Given the description of an element on the screen output the (x, y) to click on. 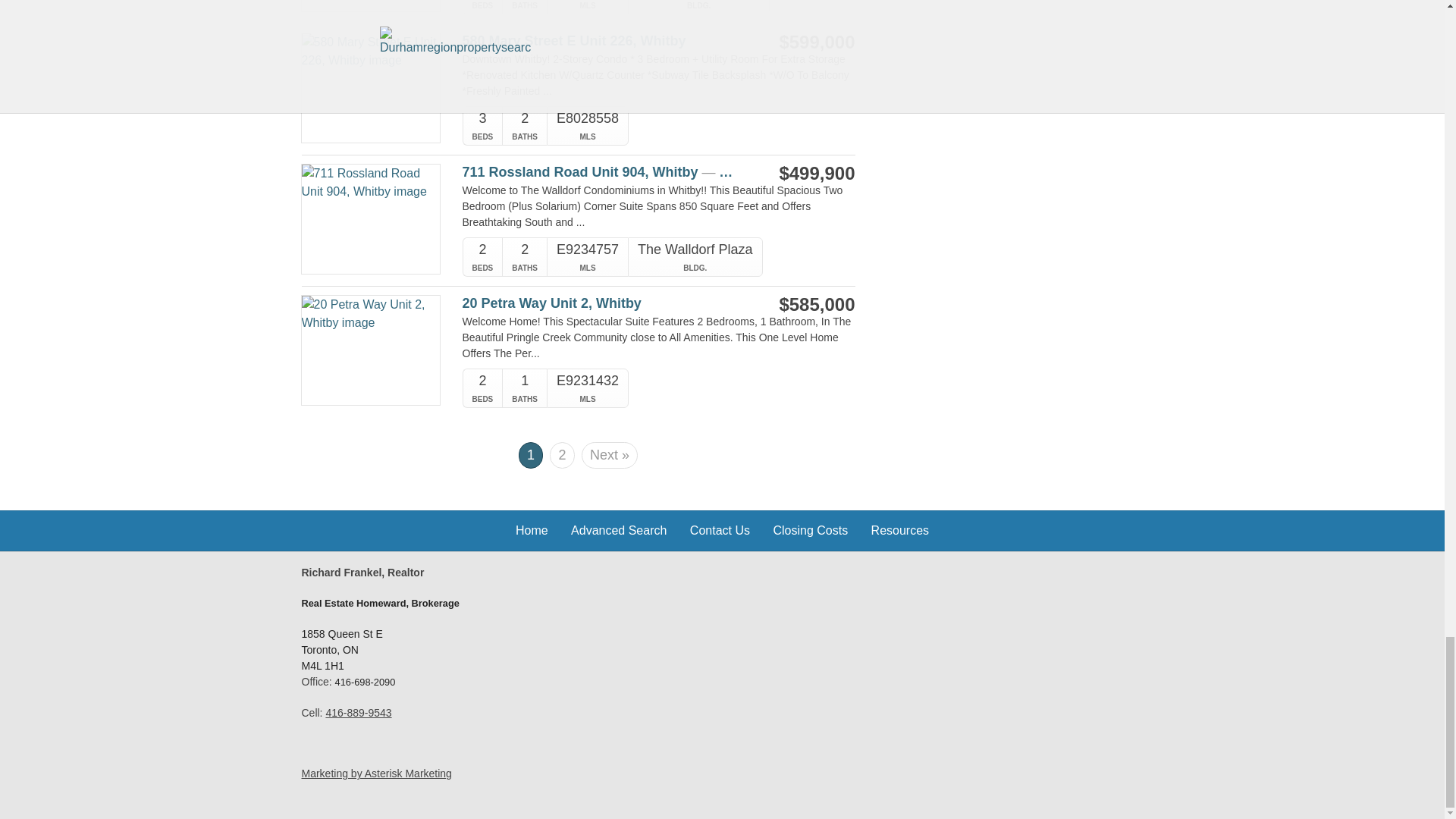
Page 2 (561, 455)
Current Page (530, 451)
Real estate marketing (376, 773)
Next Page (608, 455)
